Given the description of an element on the screen output the (x, y) to click on. 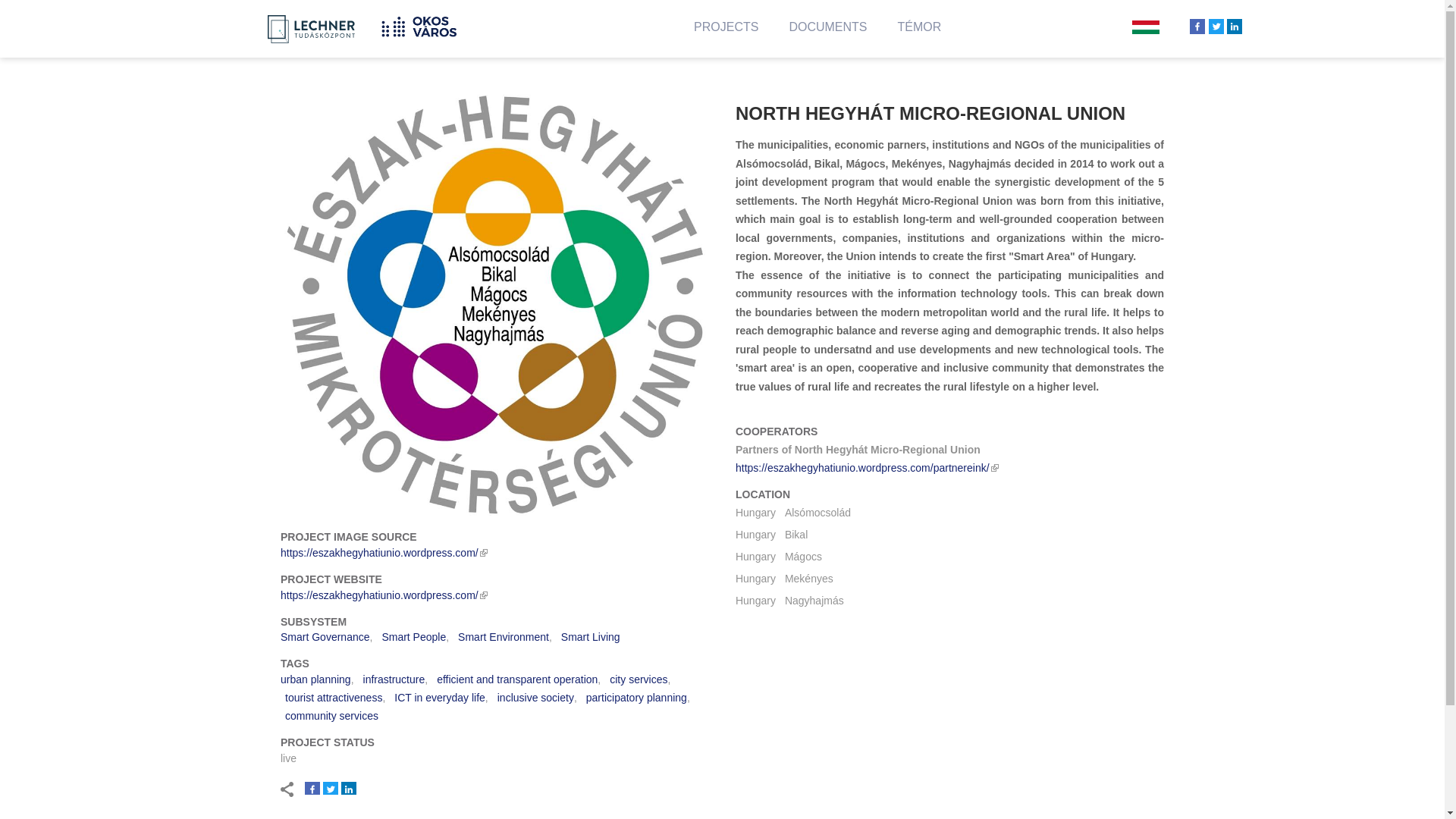
Home (424, 24)
inclusive society (535, 697)
Share on LinkedIn (348, 789)
Smart People (413, 636)
Share on Facebook (1197, 26)
infrastructure (393, 679)
Share on Facebook (312, 789)
tourist attractiveness (333, 697)
PROJECTS (726, 32)
participatory planning (636, 697)
